Given the description of an element on the screen output the (x, y) to click on. 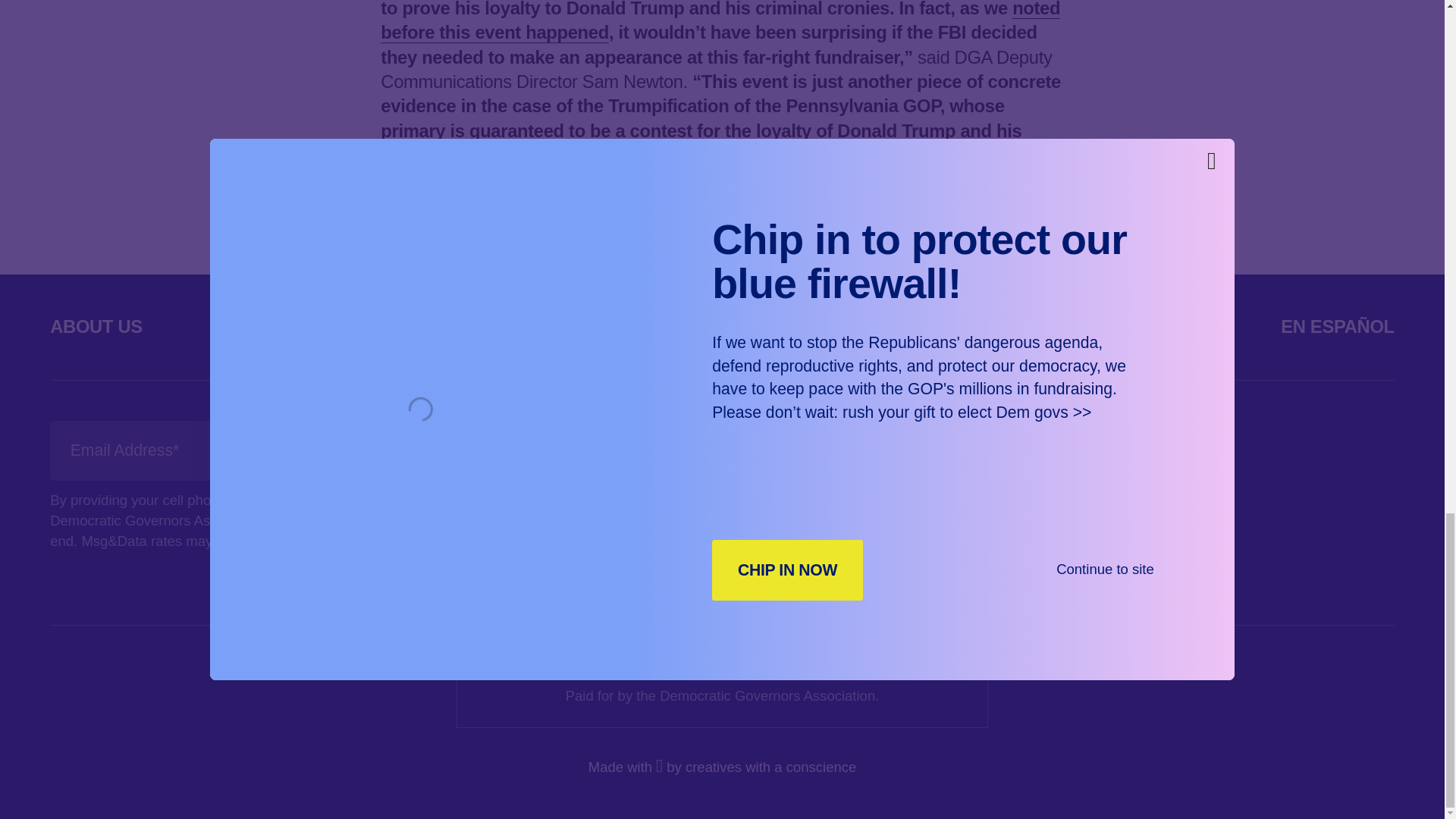
noted before this event happened (719, 21)
ABOUT US (95, 326)
JOBS (1139, 326)
TAKE ACTION (773, 326)
THE LATEST (544, 326)
GOVERNORS (316, 326)
SHOP (973, 326)
